Given the description of an element on the screen output the (x, y) to click on. 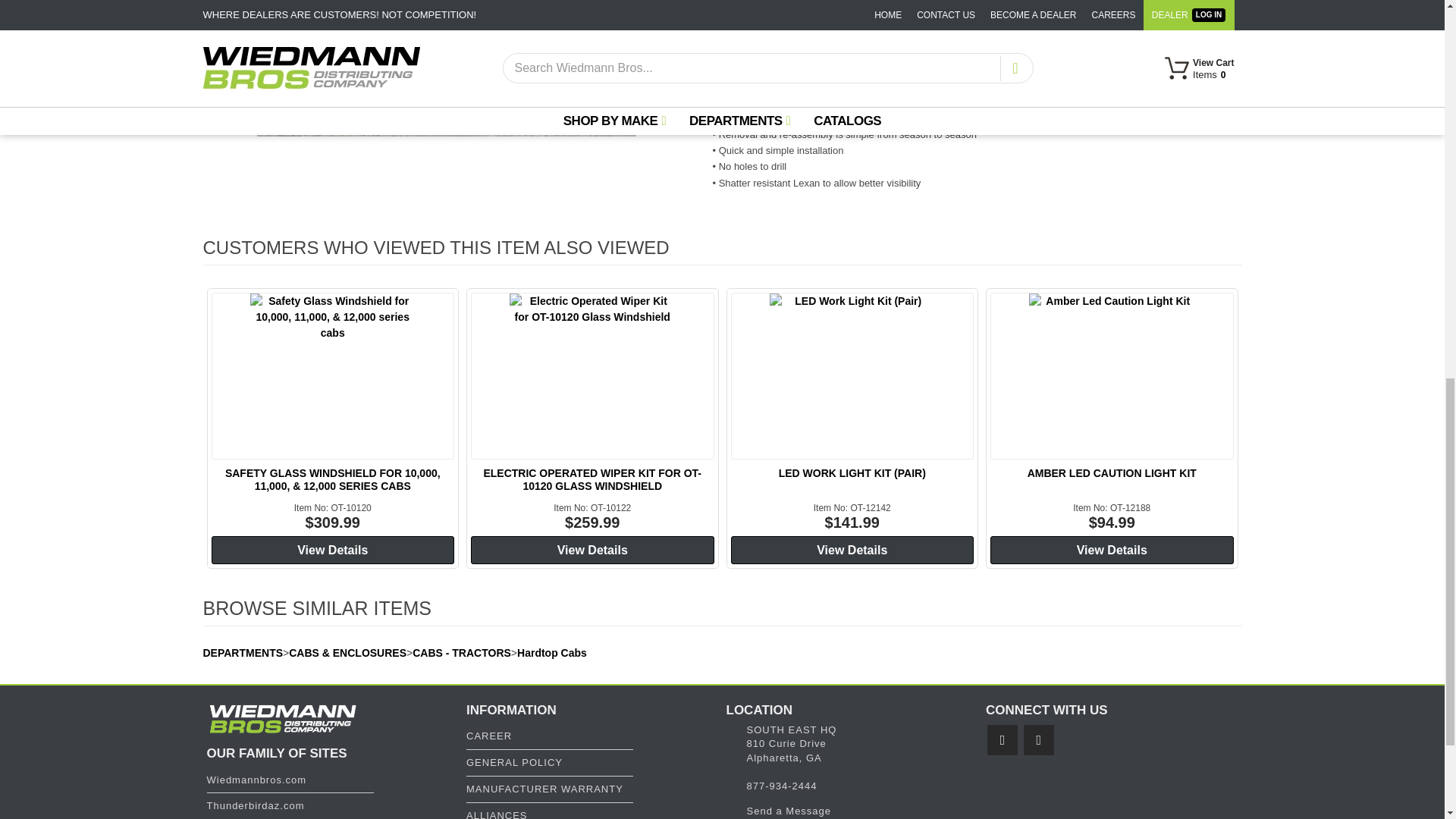
Visit Thunderbirdaz (255, 805)
Email Us (788, 810)
Visit Wiedmann Bros (255, 779)
address (790, 743)
Call Us (780, 785)
